Given the description of an element on the screen output the (x, y) to click on. 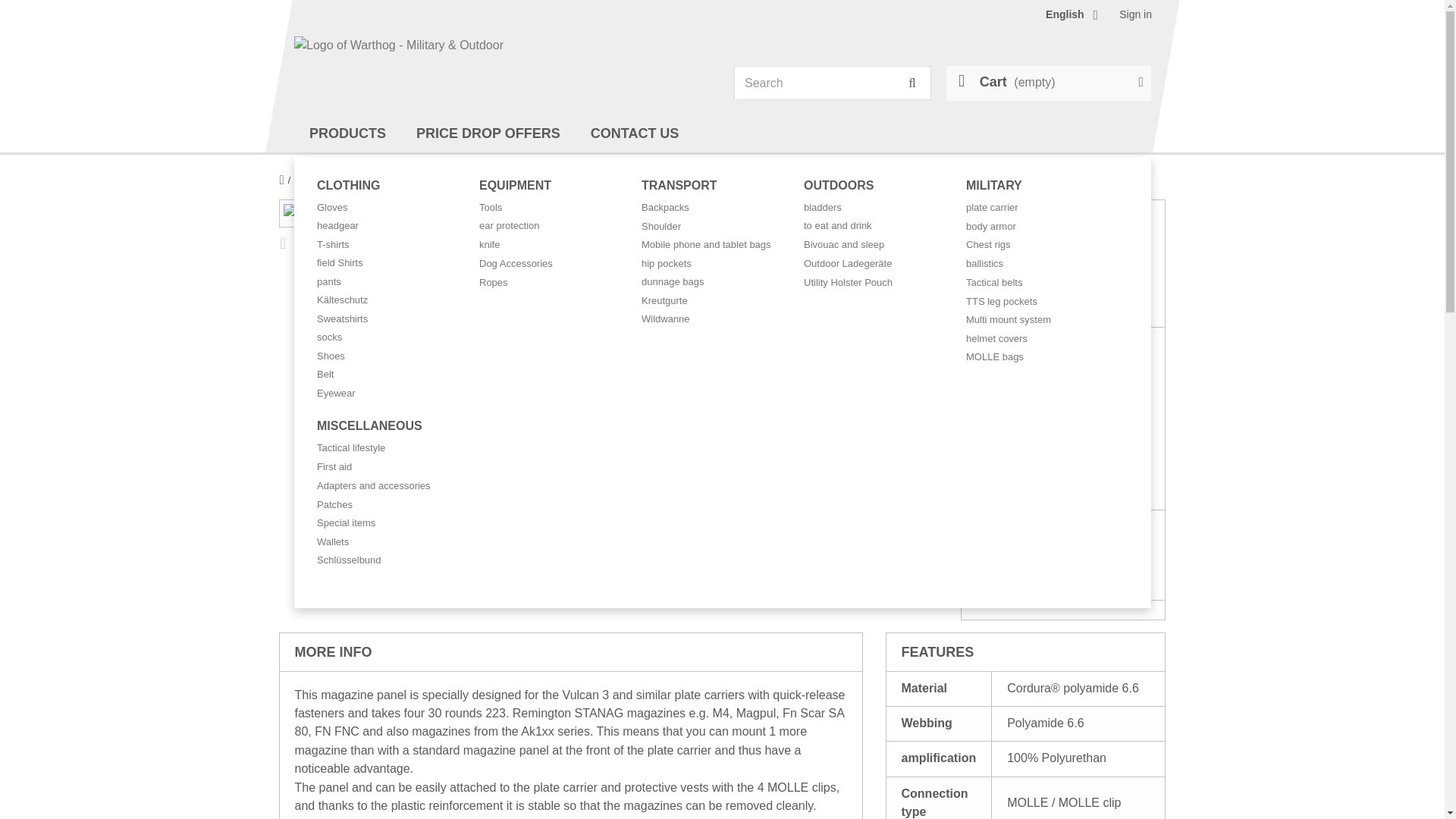
PRODUCTS (347, 133)
Gloves (332, 206)
Eyewear (336, 391)
CLOTHING (348, 185)
Ropes (493, 281)
T-shirts (333, 242)
pants (328, 280)
Products (347, 133)
TRANSPORT (679, 185)
knife (489, 244)
clothing (348, 185)
View my shopping cart (1048, 83)
Sign in (1135, 13)
Belt (325, 372)
Tools (490, 206)
